Given the description of an element on the screen output the (x, y) to click on. 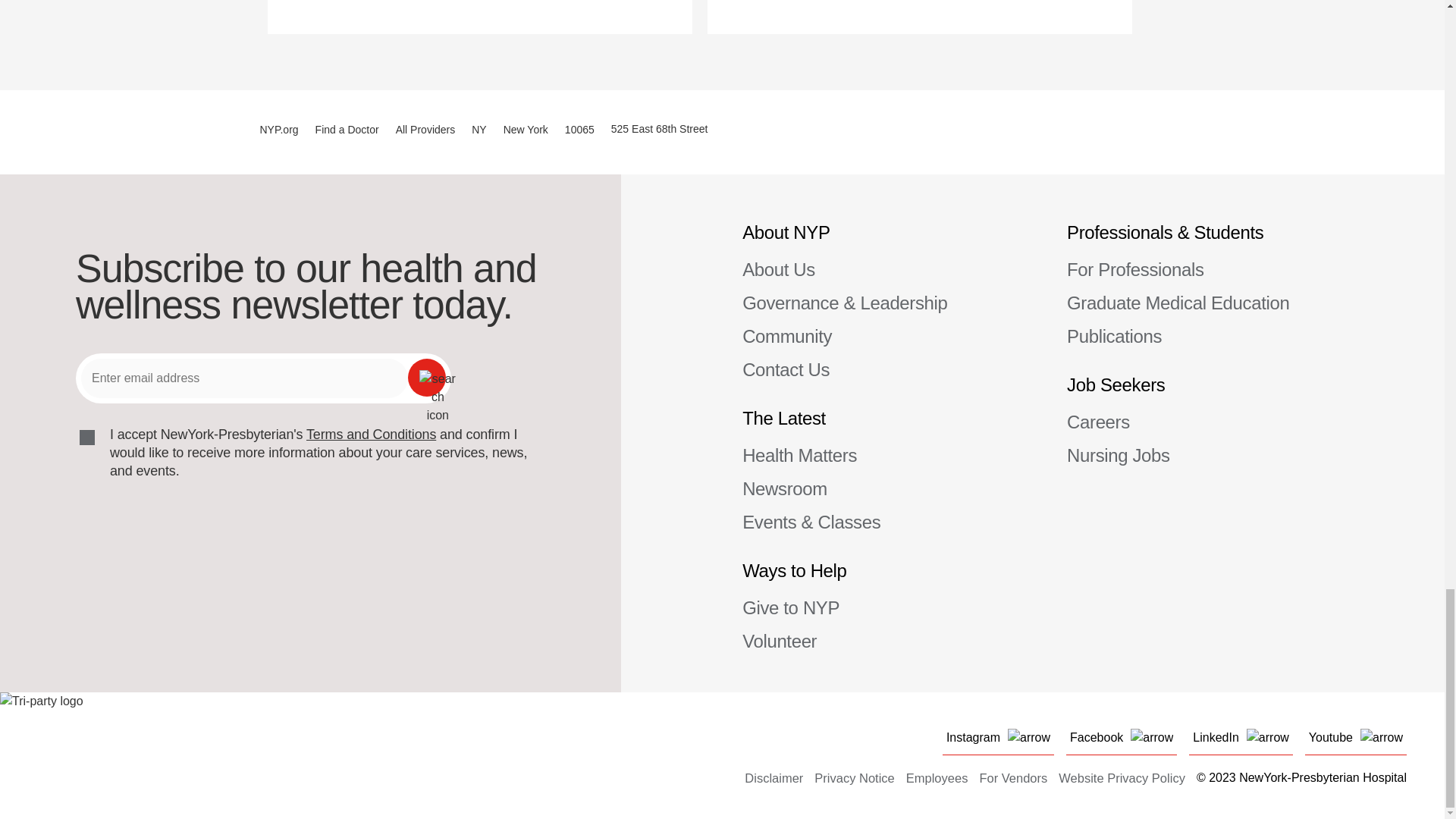
Find a Doctor (346, 129)
All Providers (425, 129)
NYP.org (278, 129)
